Given the description of an element on the screen output the (x, y) to click on. 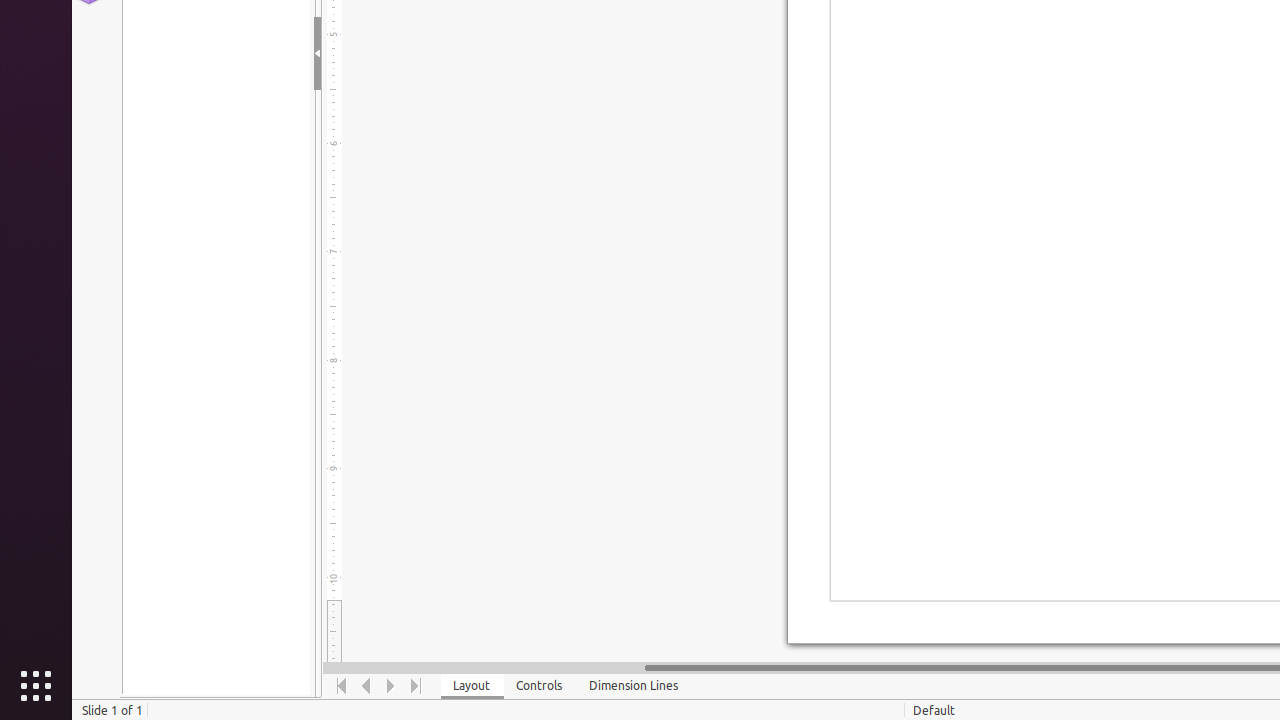
Controls Element type: page-tab (540, 686)
Move To Home Element type: push-button (341, 686)
Dimension Lines Element type: page-tab (634, 686)
